Given the description of an element on the screen output the (x, y) to click on. 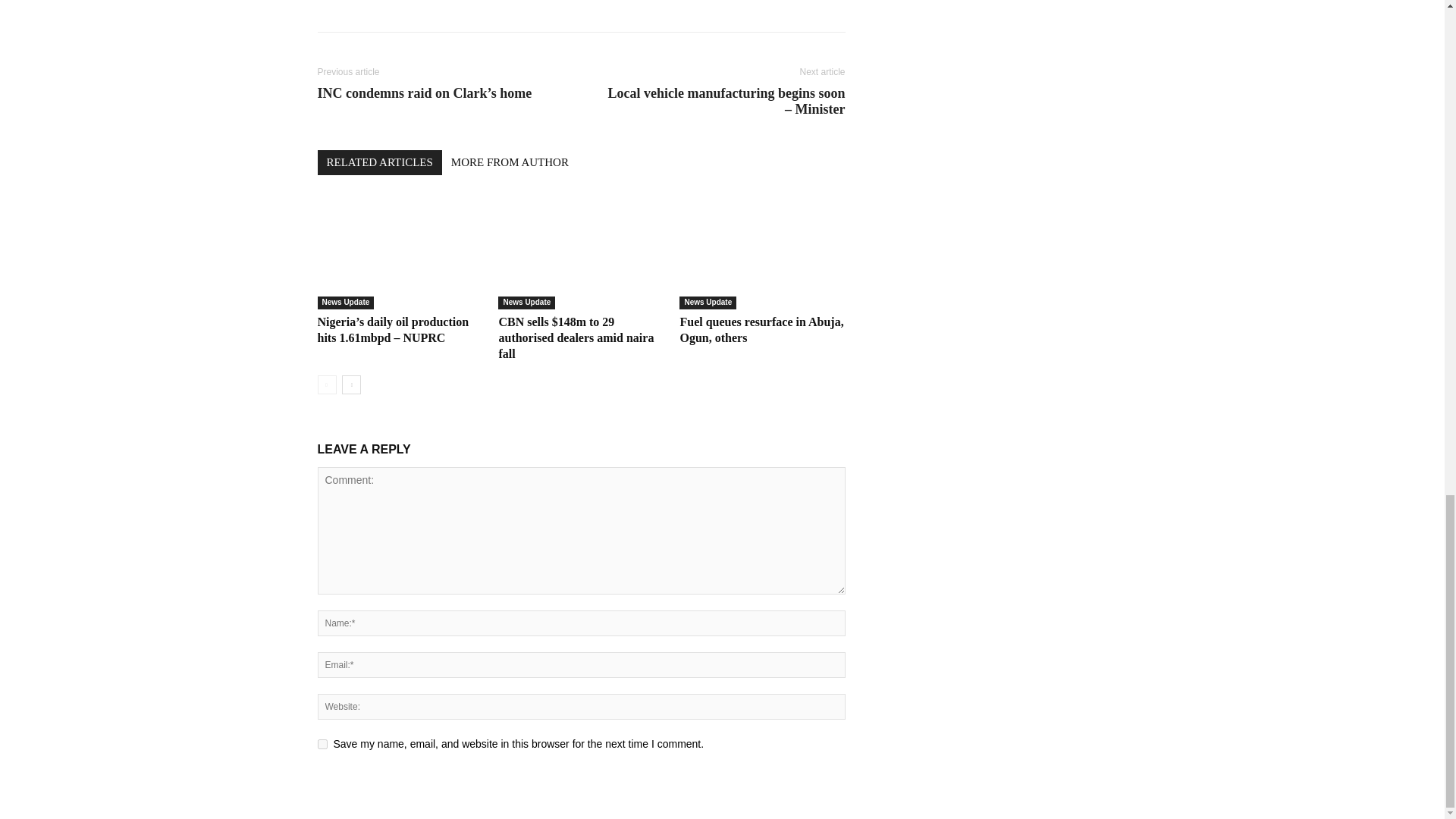
yes (321, 744)
